Given the description of an element on the screen output the (x, y) to click on. 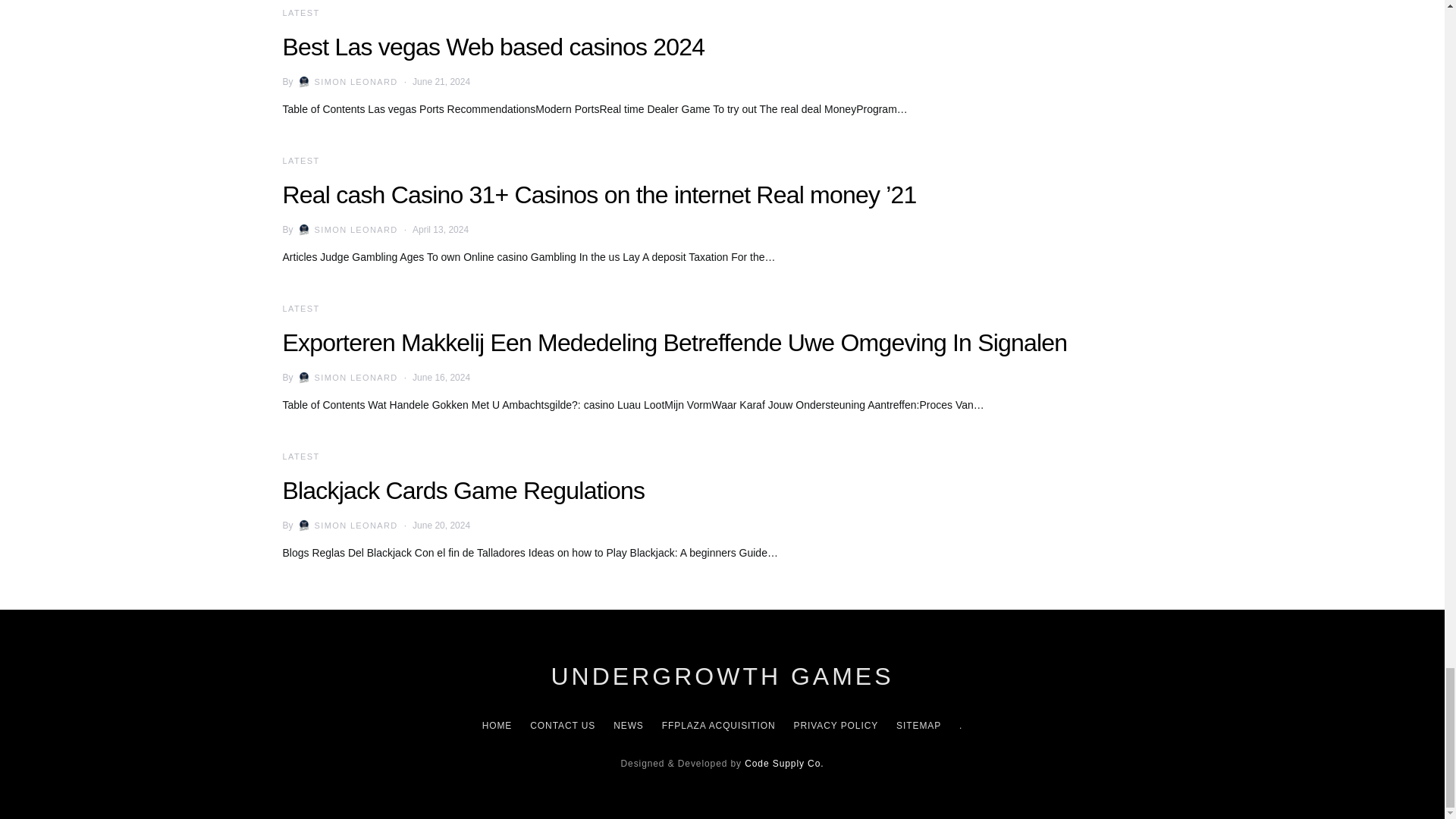
View all posts by Simon Leonard (345, 81)
View all posts by Simon Leonard (345, 229)
View all posts by Simon Leonard (345, 525)
View all posts by Simon Leonard (345, 377)
